Given the description of an element on the screen output the (x, y) to click on. 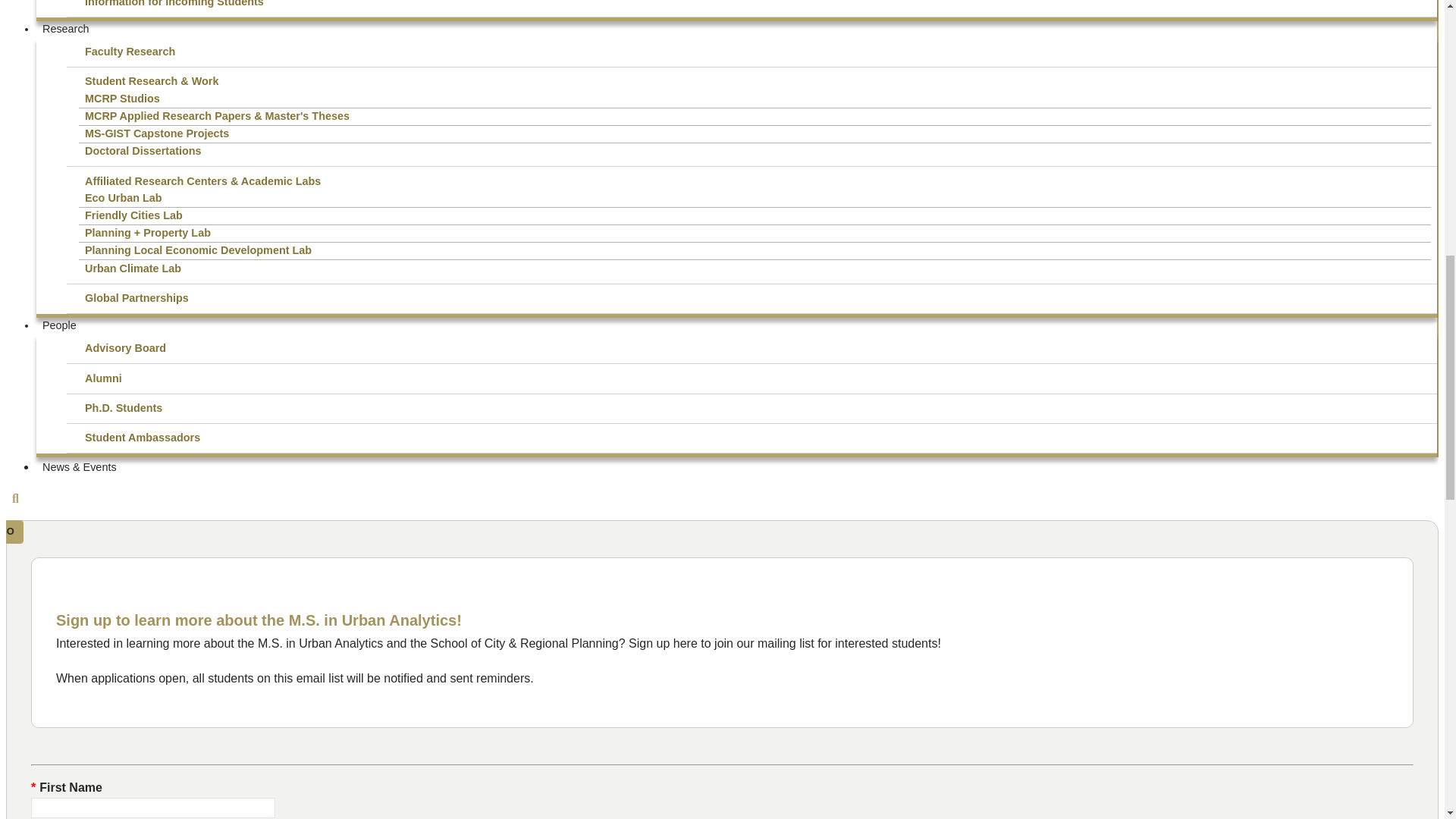
search (14, 498)
GO (11, 531)
MCRP Studios (754, 98)
Faculty Research (754, 52)
